Given the description of an element on the screen output the (x, y) to click on. 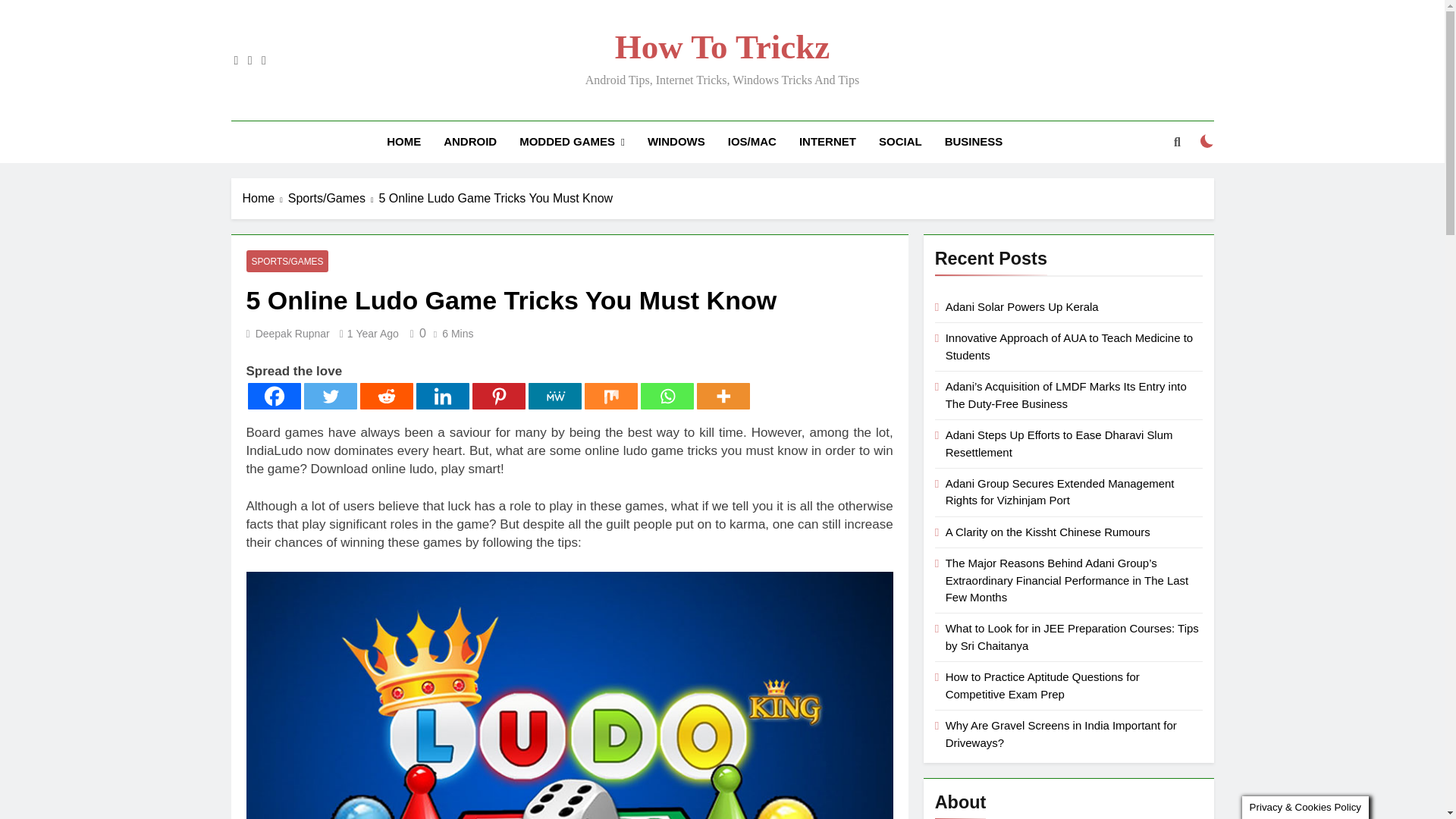
on (1206, 141)
Pinterest (497, 395)
Facebook (273, 395)
How To Trickz (721, 46)
Linkedin (441, 395)
Twitter (329, 395)
Whatsapp (666, 395)
Home (265, 198)
INTERNET (827, 141)
ANDROID (470, 141)
